Given the description of an element on the screen output the (x, y) to click on. 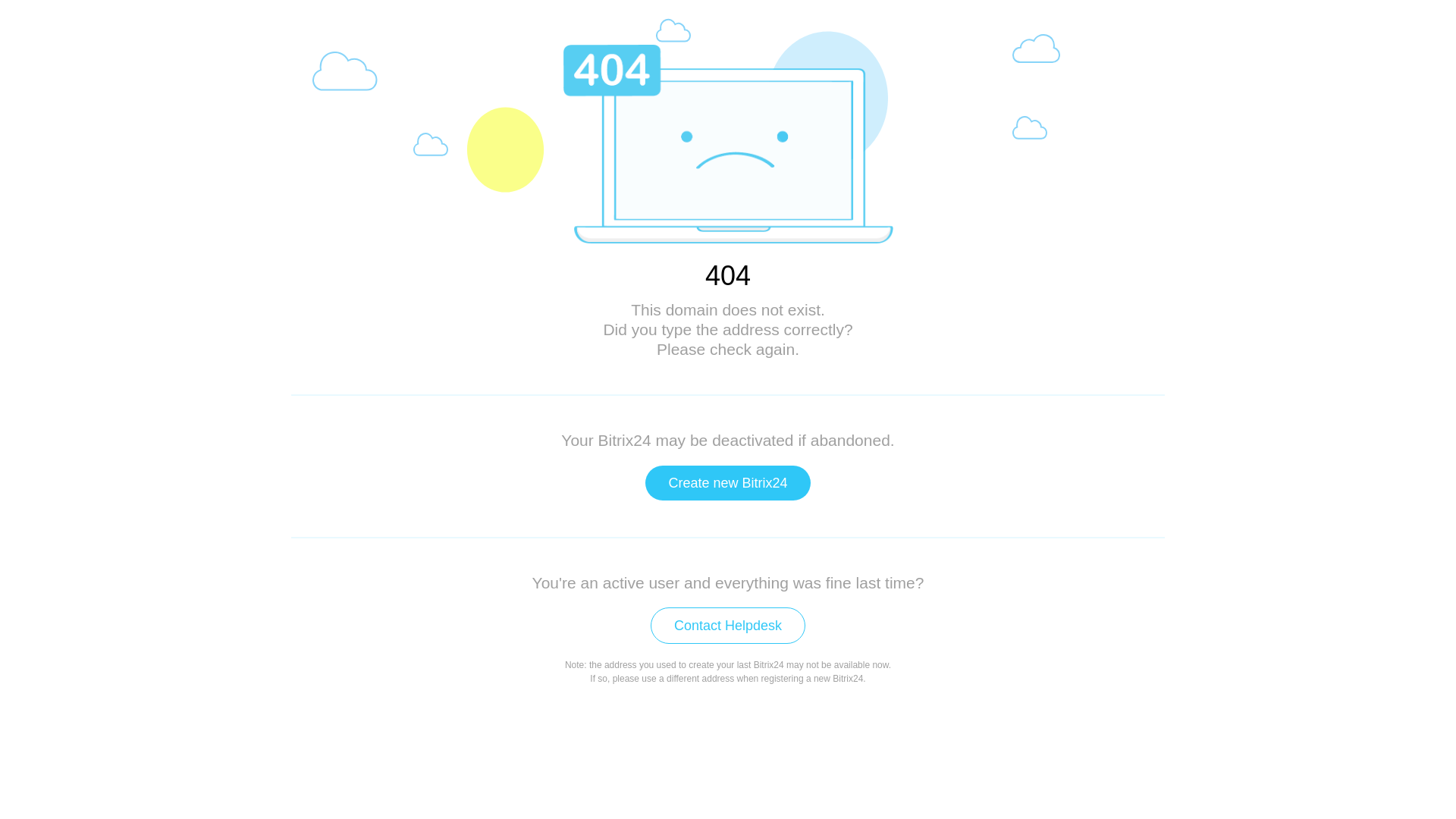
Create new Bitrix24 Element type: text (727, 482)
Contact Helpdesk Element type: text (727, 625)
